Given the description of an element on the screen output the (x, y) to click on. 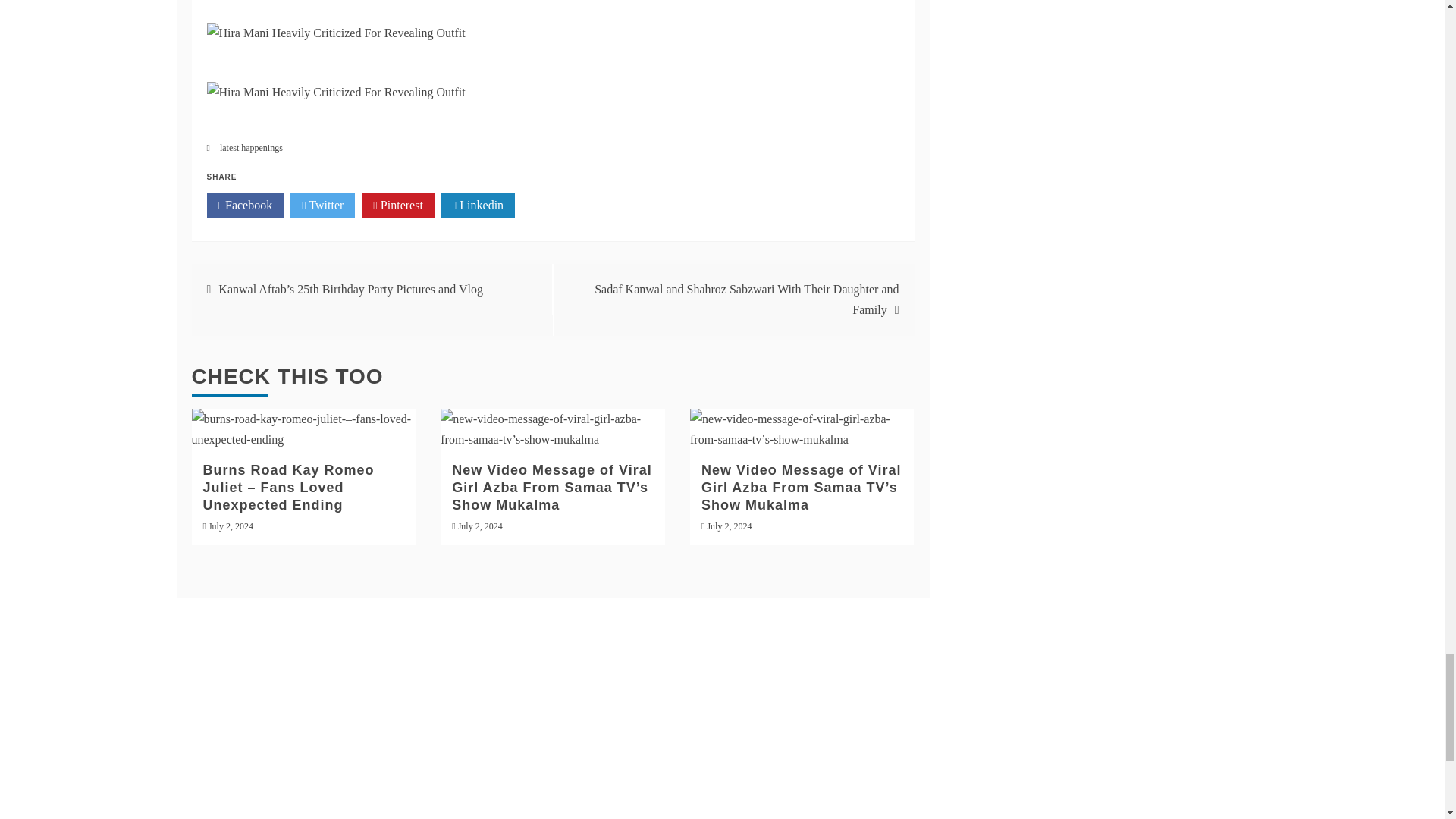
July 2, 2024 (728, 525)
Pinterest (397, 205)
latest happenings (250, 147)
Linkedin (478, 205)
July 2, 2024 (480, 525)
July 2, 2024 (230, 525)
Facebook (244, 205)
Twitter (322, 205)
